Given the description of an element on the screen output the (x, y) to click on. 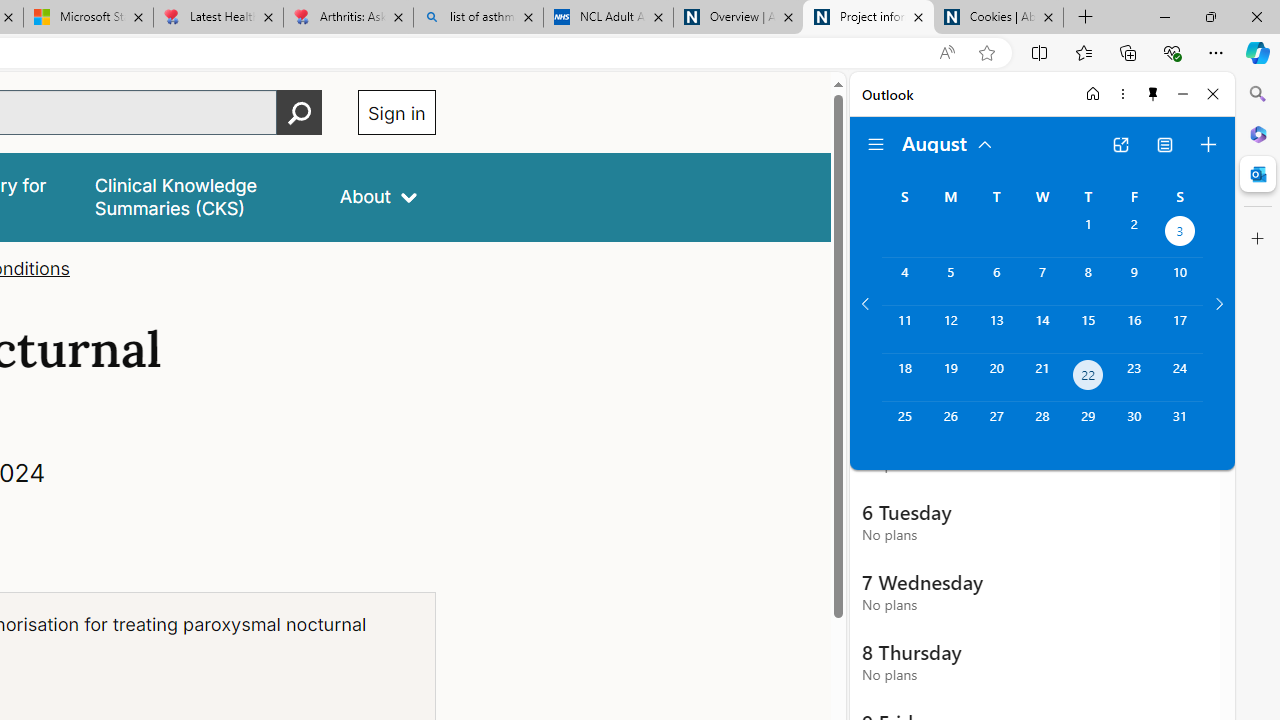
August (948, 141)
Thursday, August 1, 2024.  (1088, 233)
Add this page to favorites (Ctrl+D) (986, 53)
Close (1213, 93)
Create event (1208, 144)
Saturday, August 17, 2024.  (1180, 329)
More options (1122, 93)
Monday, August 12, 2024.  (950, 329)
Favorites (1083, 52)
Thursday, August 15, 2024.  (1088, 329)
Arthritis: Ask Health Professionals (348, 17)
Saturday, August 24, 2024.  (1180, 377)
